Given the description of an element on the screen output the (x, y) to click on. 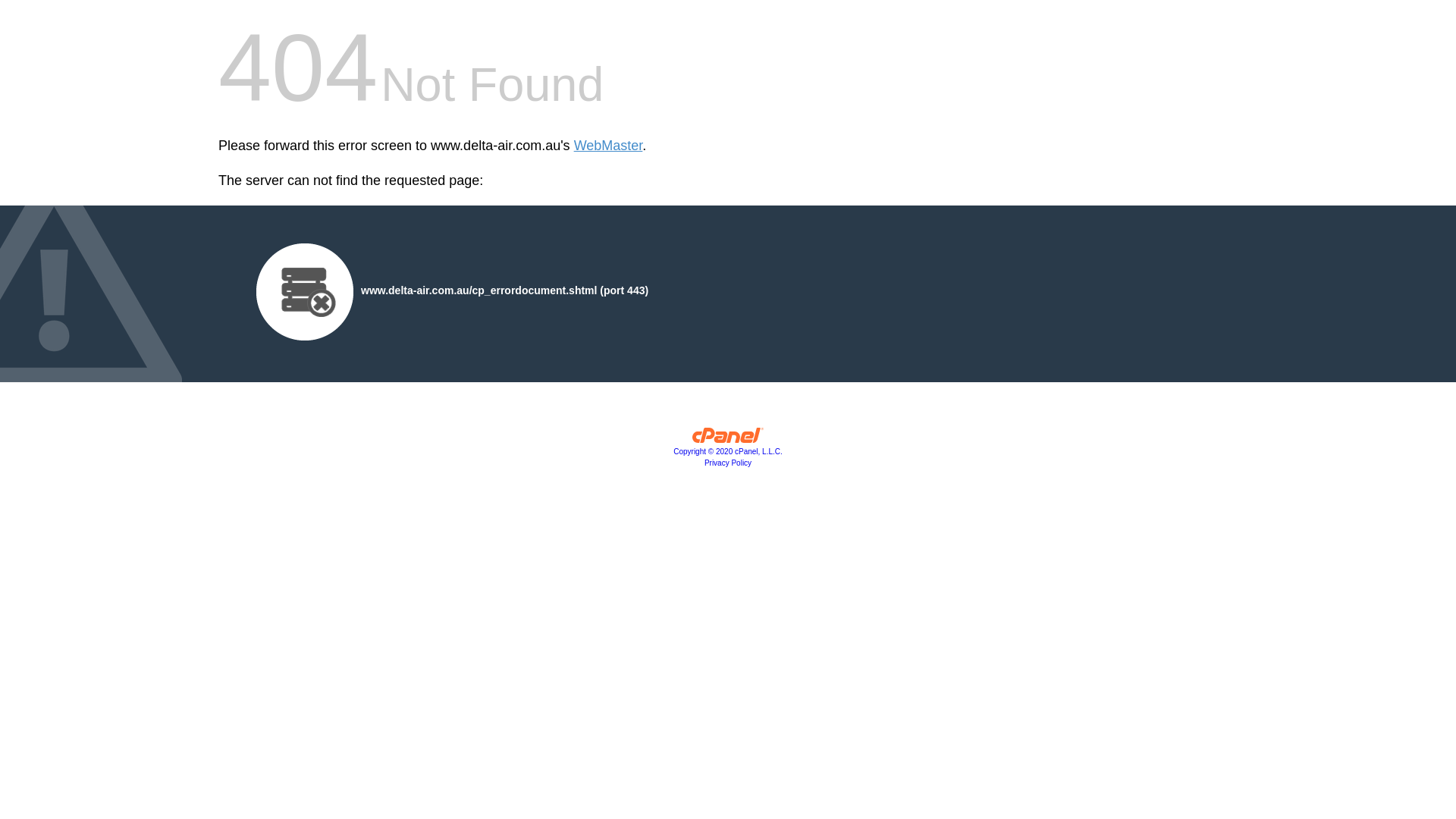
cPanel, Inc. Element type: hover (728, 439)
Privacy Policy Element type: text (727, 462)
WebMaster Element type: text (608, 145)
